Given the description of an element on the screen output the (x, y) to click on. 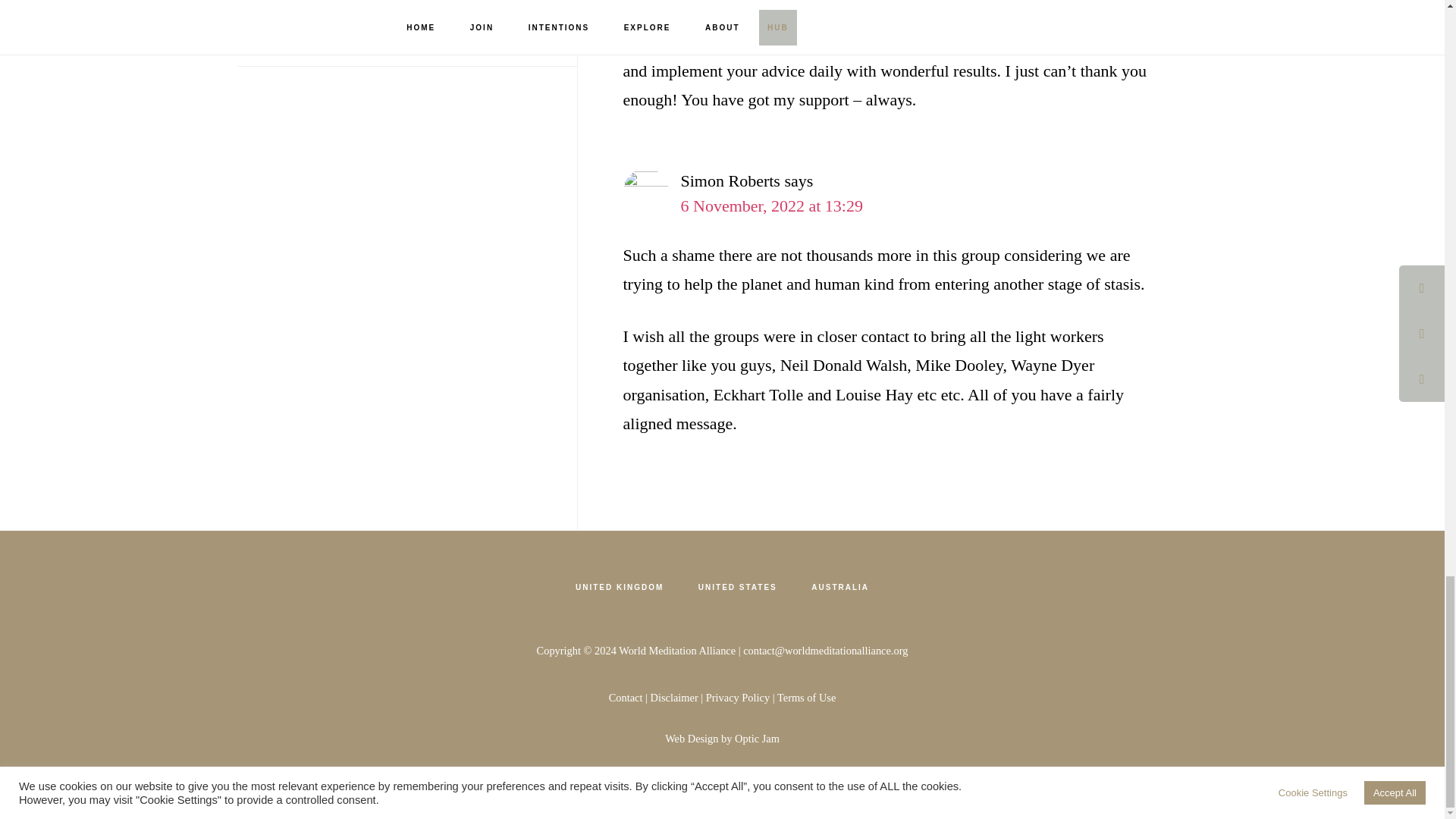
6 November, 2022 at 13:29 (772, 205)
